Given the description of an element on the screen output the (x, y) to click on. 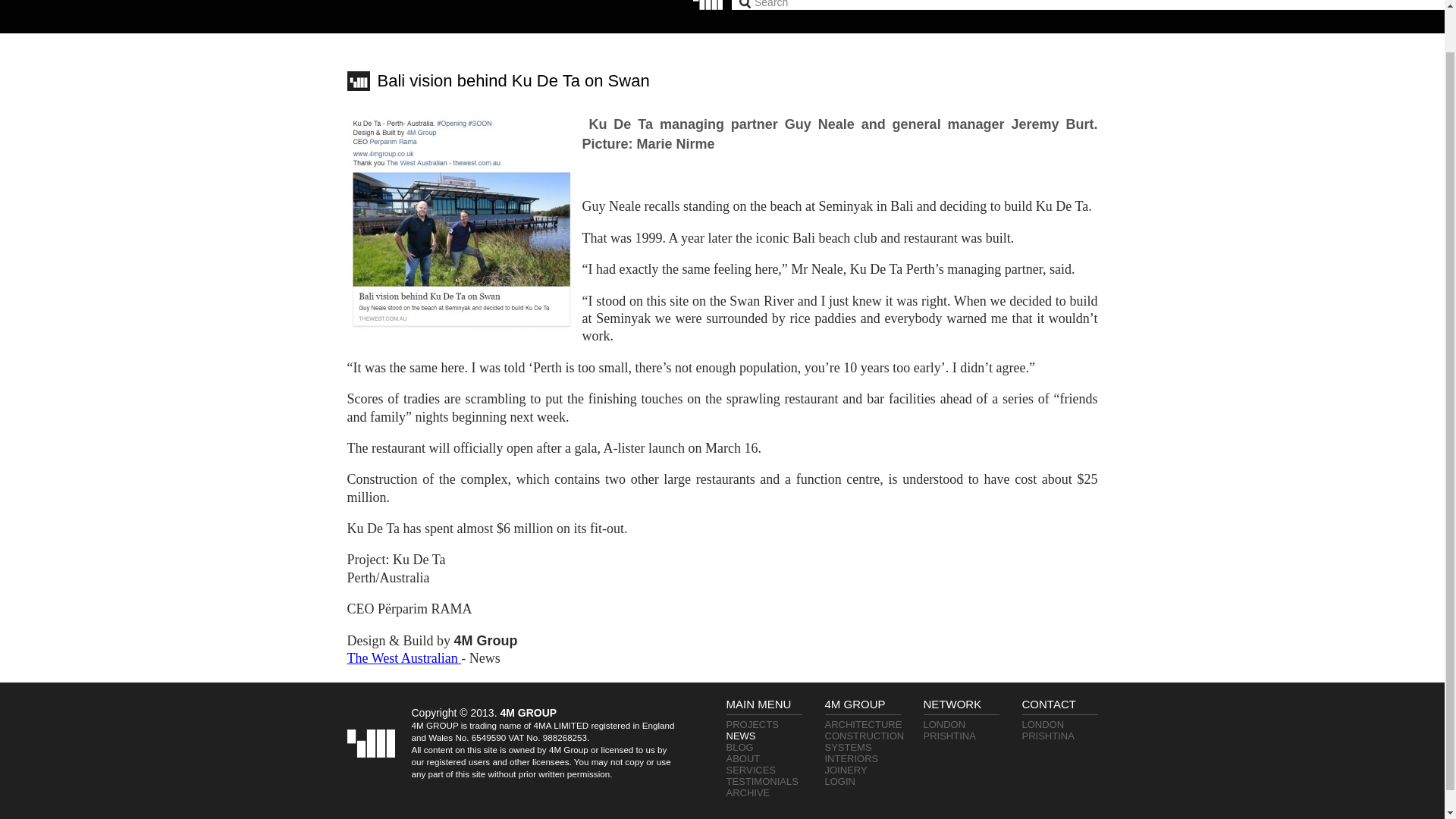
CONSTRUCTION (864, 736)
PROJECTS (752, 724)
PRISHTINA (949, 736)
INTERIORS (852, 758)
LONDON (944, 724)
BLOG (740, 747)
TESTIMONIALS (761, 781)
JOINERY (846, 769)
The West Australian (404, 657)
Search (799, 4)
LONDON (1043, 724)
ARCHIVE (748, 792)
SERVICES (751, 769)
PRISHTINA (1048, 736)
LOGIN (840, 781)
